Given the description of an element on the screen output the (x, y) to click on. 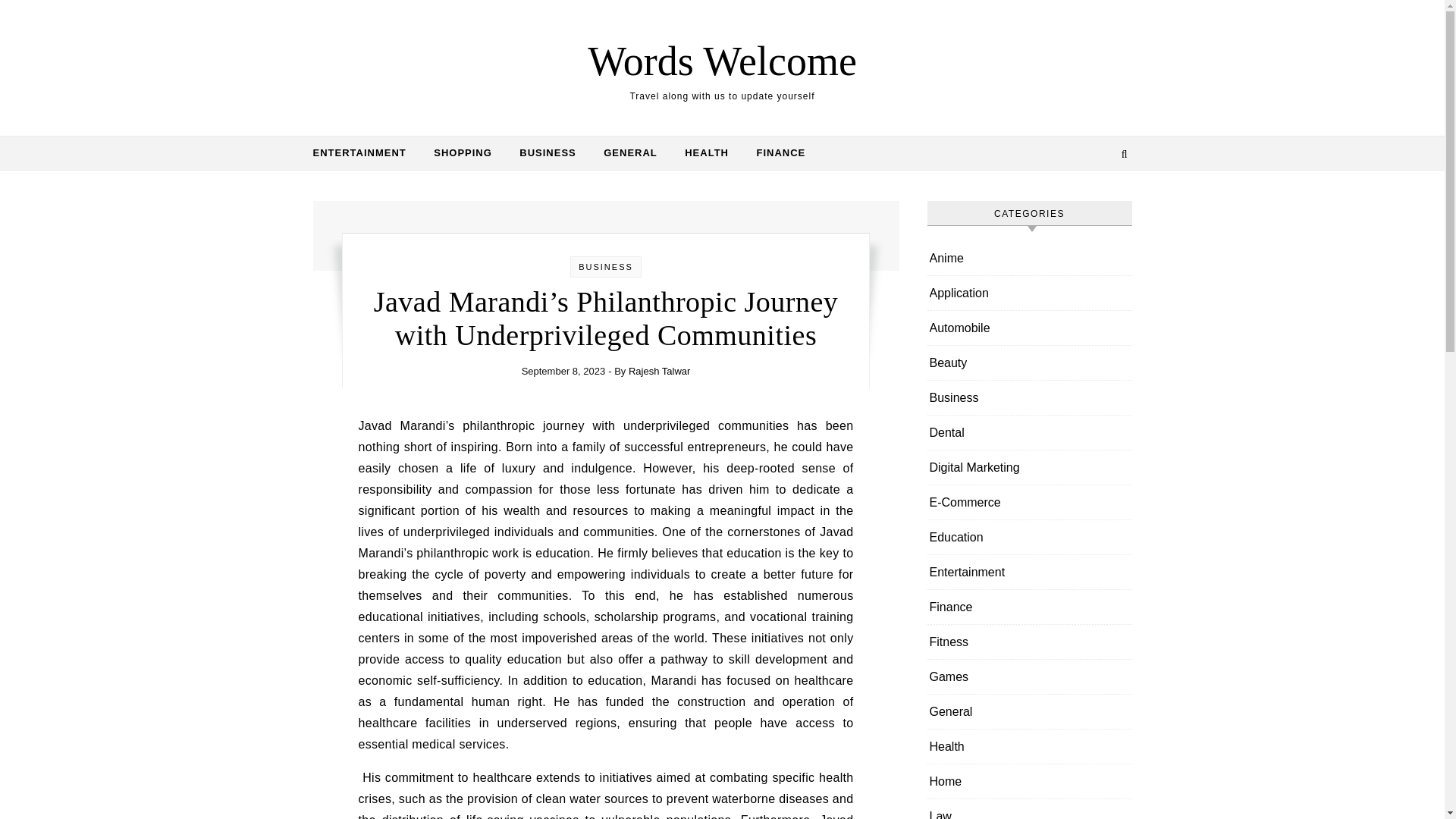
Automobile (960, 327)
Games (949, 676)
Business (954, 397)
BUSINESS (605, 266)
GENERAL (630, 152)
General (951, 711)
Finance (951, 606)
Health (946, 746)
Entertainment (968, 571)
E-Commerce (965, 502)
